Given the description of an element on the screen output the (x, y) to click on. 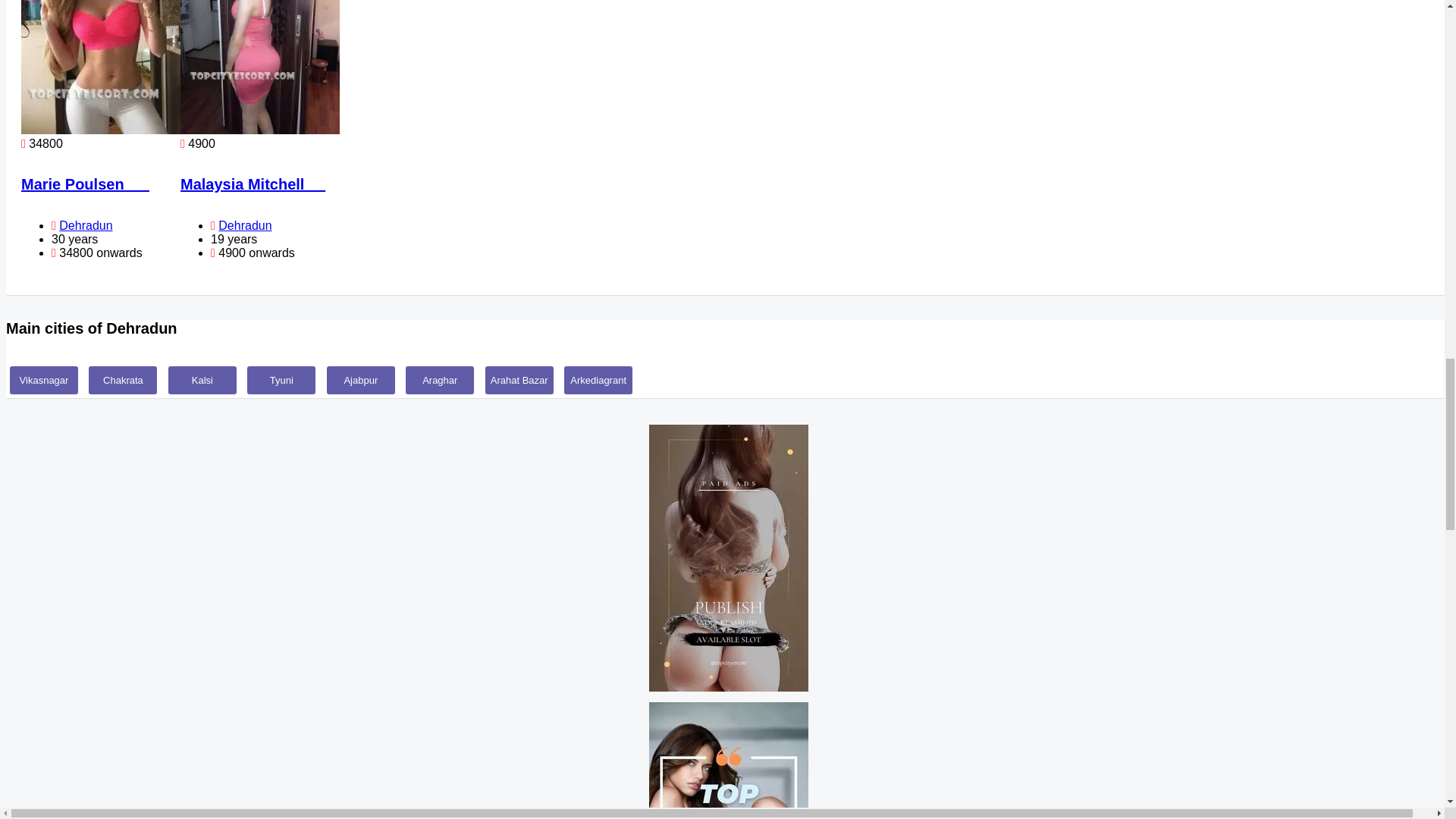
Malaysia Mitchell (252, 184)
Marie Poulsen (85, 184)
